Given the description of an element on the screen output the (x, y) to click on. 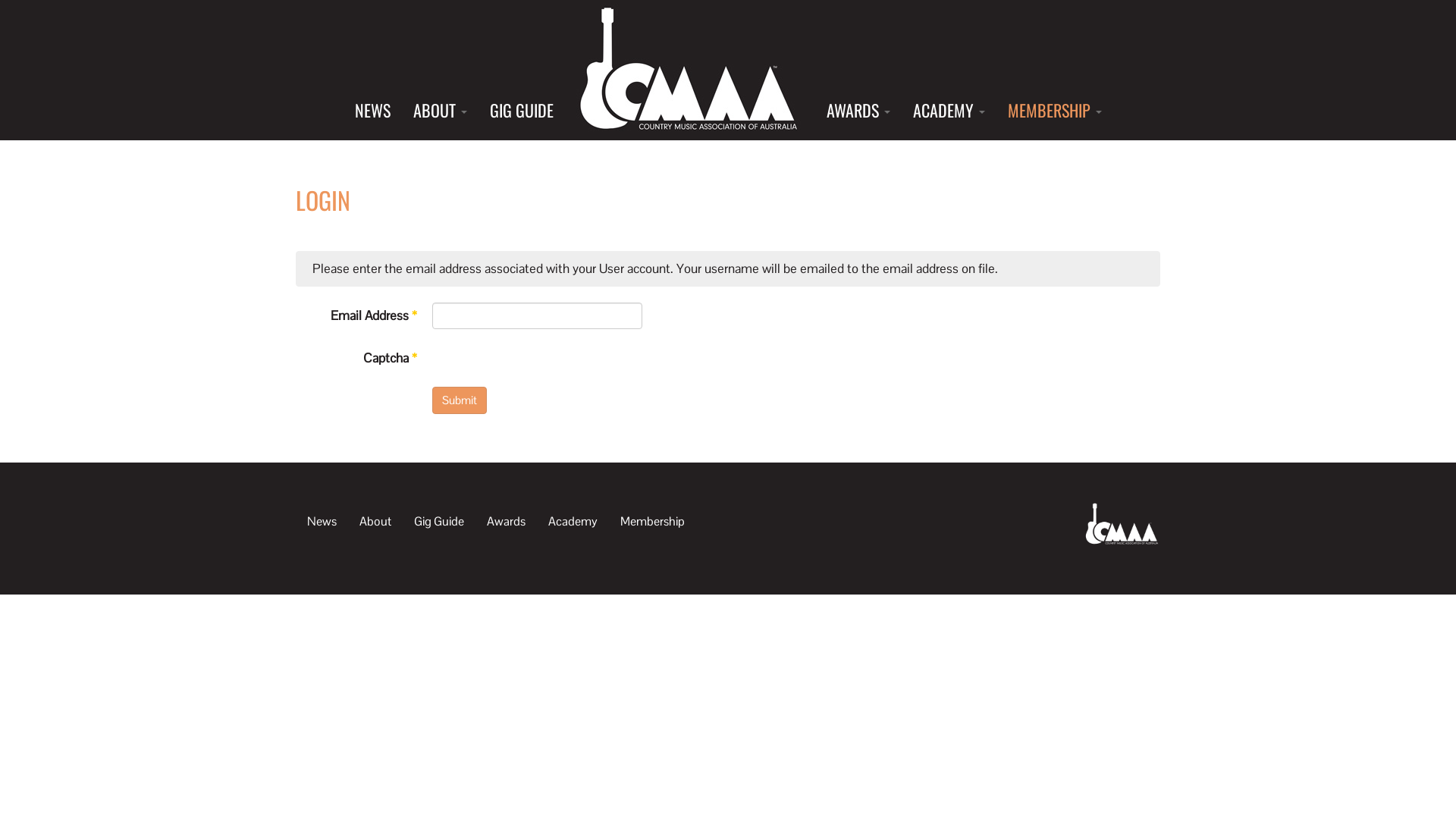
ACADEMY Element type: text (947, 109)
MEMBERSHIP Element type: text (1054, 109)
Gig Guide Element type: text (438, 520)
Submit Element type: text (459, 399)
About Element type: text (375, 520)
NEWS Element type: text (371, 109)
GIG GUIDE Element type: text (520, 109)
Membership Element type: text (652, 520)
Academy Element type: text (572, 520)
ABOUT Element type: text (439, 109)
Awards Element type: text (505, 520)
AWARDS Element type: text (857, 109)
News Element type: text (321, 520)
